Given the description of an element on the screen output the (x, y) to click on. 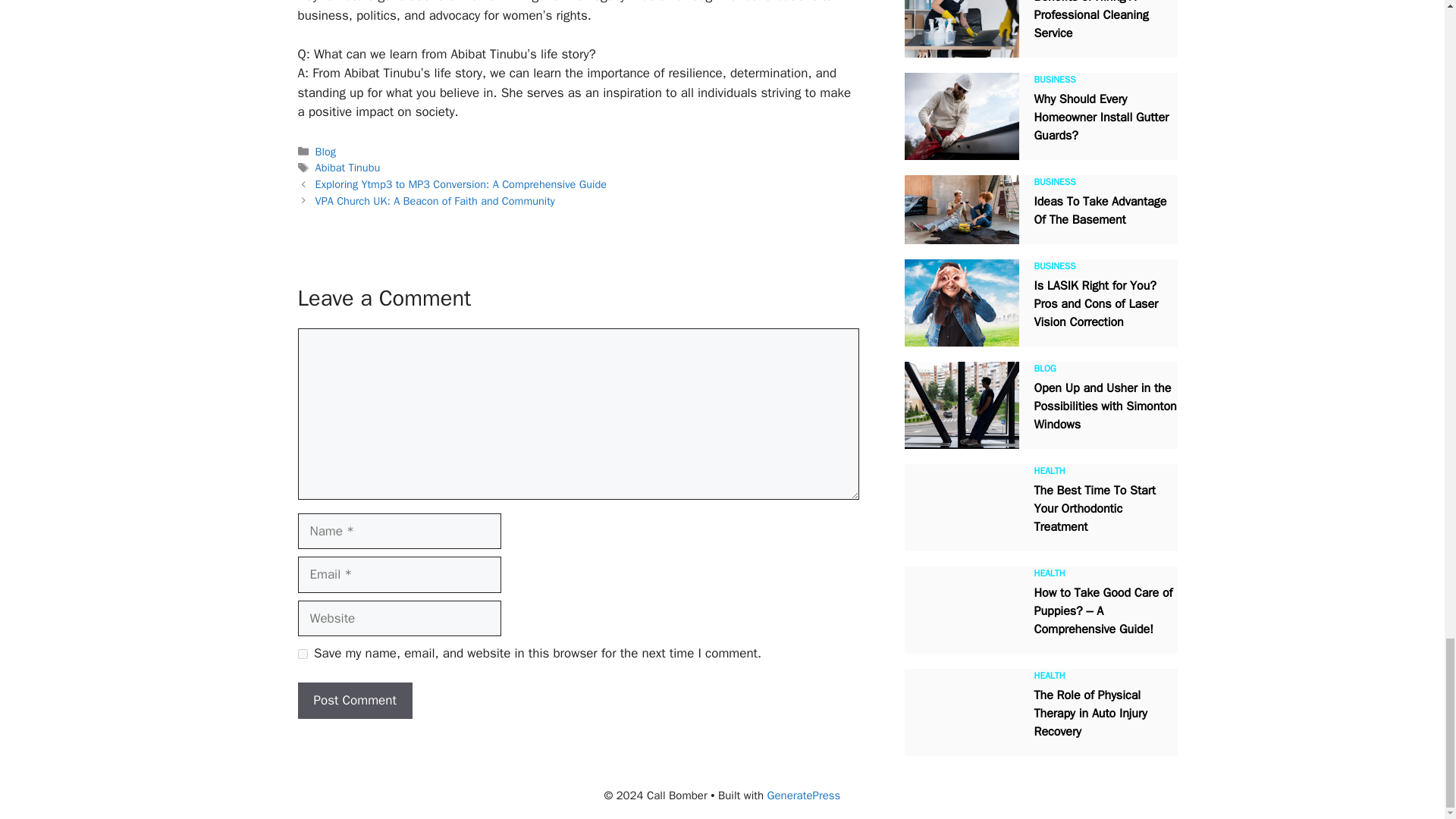
Blog (325, 151)
Exploring Ytmp3 to MP3 Conversion: A Comprehensive Guide (461, 183)
Post Comment (354, 700)
Abibat Tinubu (347, 167)
yes (302, 654)
VPA Church UK: A Beacon of Faith and Community (434, 201)
Post Comment (354, 700)
